Given the description of an element on the screen output the (x, y) to click on. 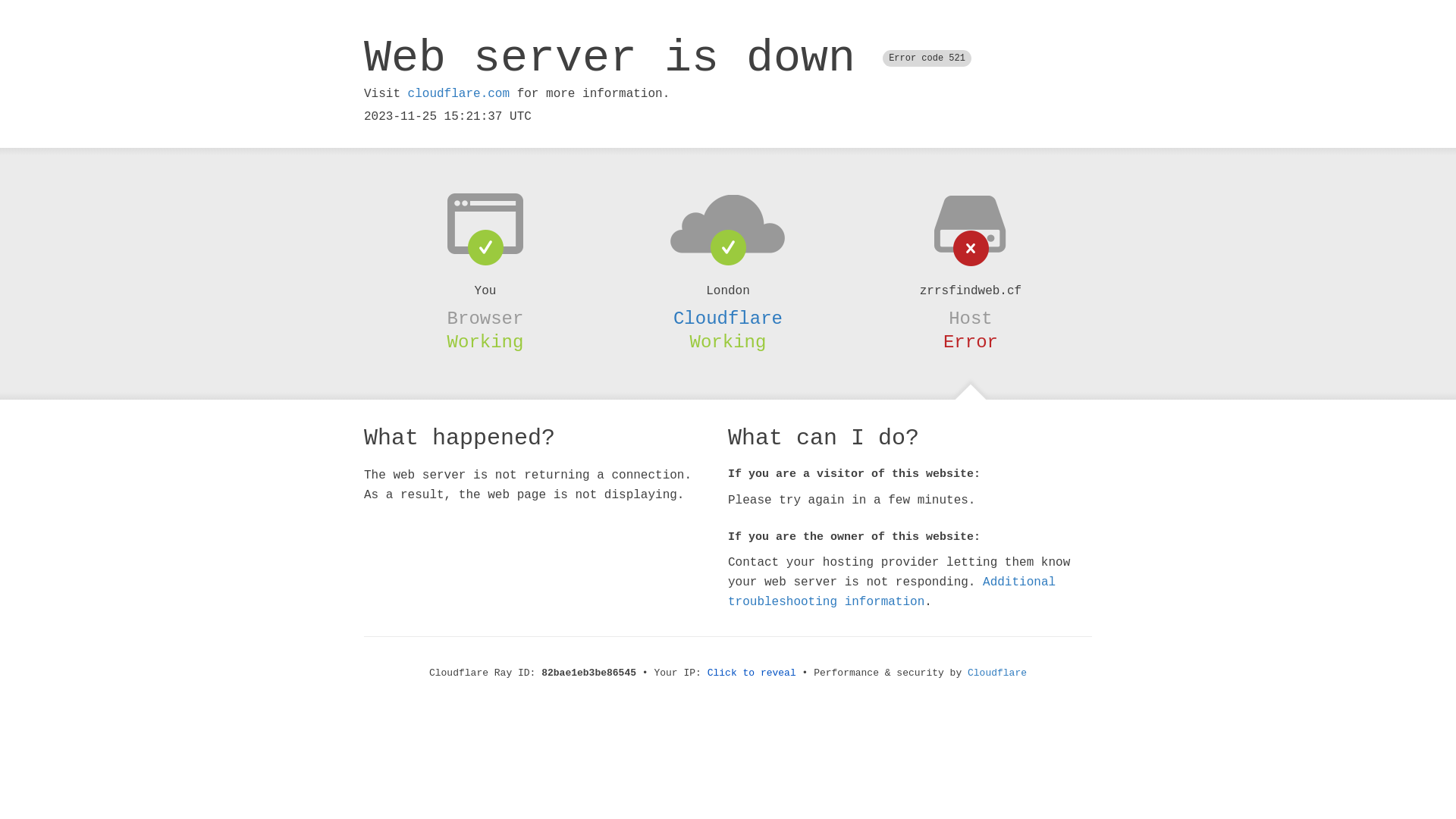
Cloudflare Element type: text (996, 672)
Click to reveal Element type: text (751, 672)
cloudflare.com Element type: text (458, 93)
Cloudflare Element type: text (727, 318)
Additional troubleshooting information Element type: text (891, 591)
